Given the description of an element on the screen output the (x, y) to click on. 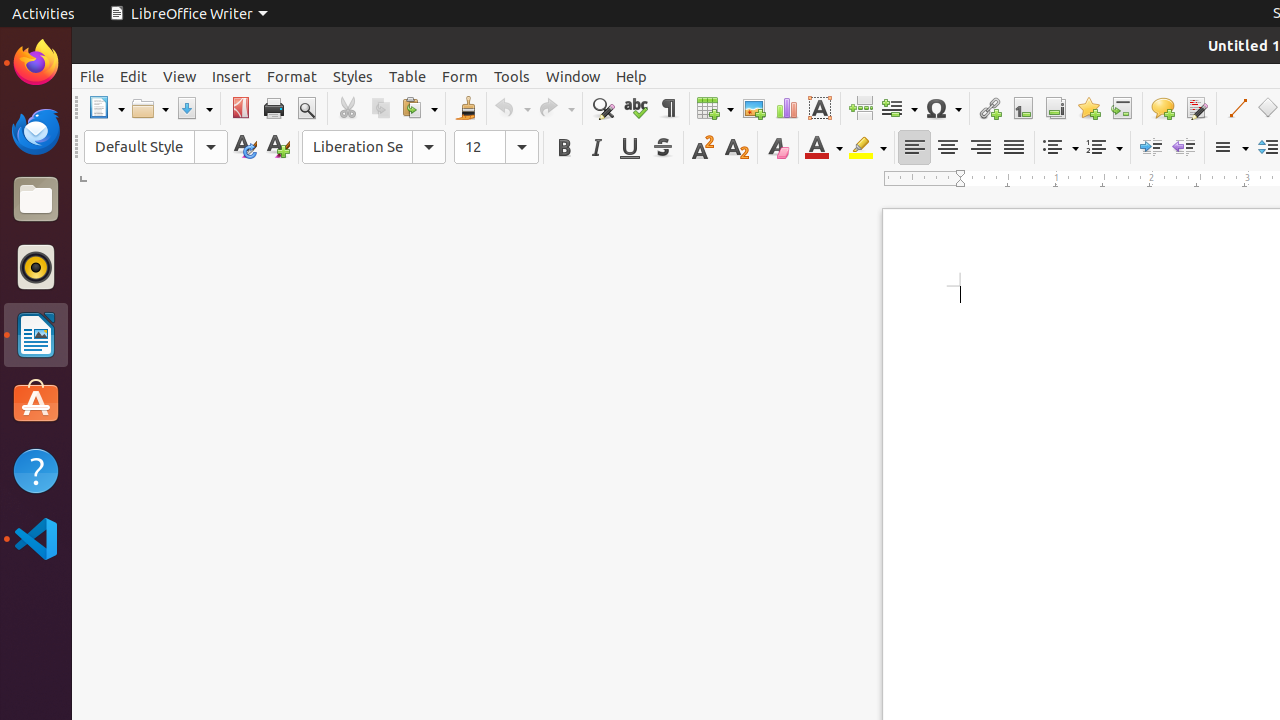
Save Element type: push-button (194, 108)
Cut Element type: push-button (347, 108)
Open Element type: push-button (150, 108)
